Given the description of an element on the screen output the (x, y) to click on. 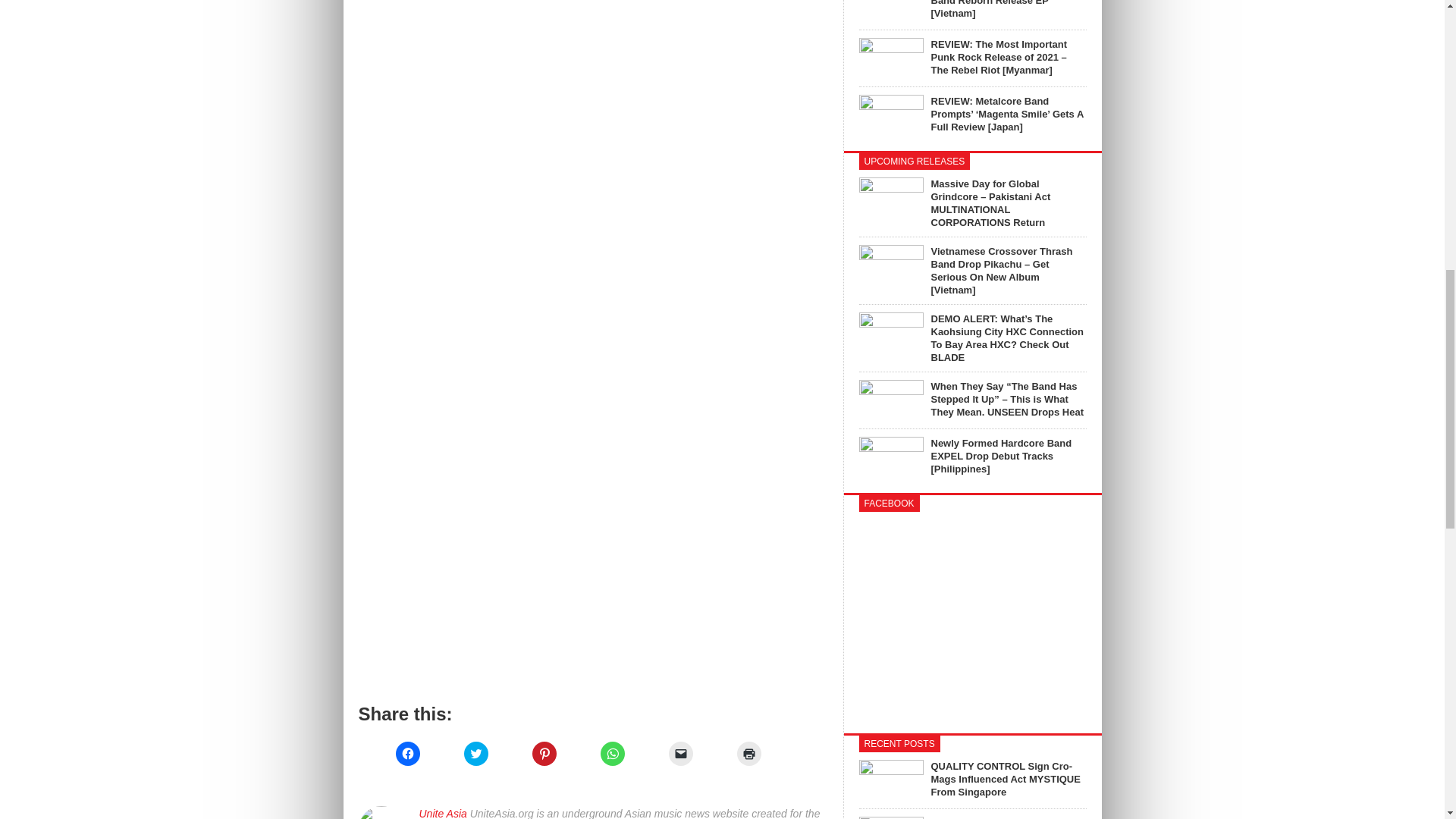
Click to share on Pinterest (544, 753)
Posts by Unite Asia (442, 813)
Click to email a link to a friend (680, 753)
Click to share on Facebook (408, 753)
Click to share on WhatsApp (611, 753)
Click to print (748, 753)
Click to share on Twitter (475, 753)
